Given the description of an element on the screen output the (x, y) to click on. 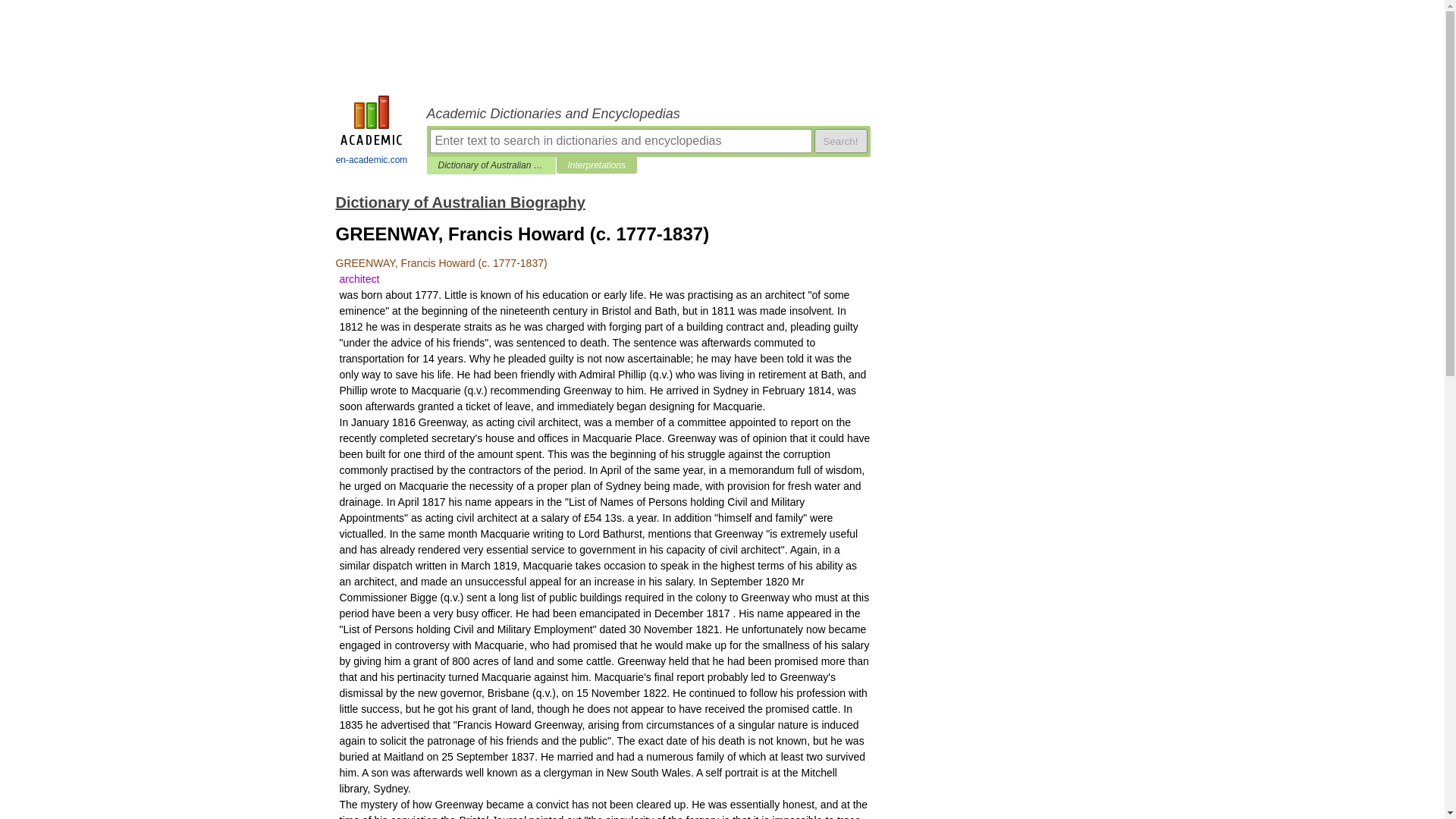
Interpretations (596, 165)
Dictionary of Australian Biography (459, 202)
Search! (840, 140)
Academic Dictionaries and Encyclopedias (647, 114)
Dictionary of Australian Biography (491, 165)
Enter text to search in dictionaries and encyclopedias (619, 140)
en-academic.com (371, 131)
